Given the description of an element on the screen output the (x, y) to click on. 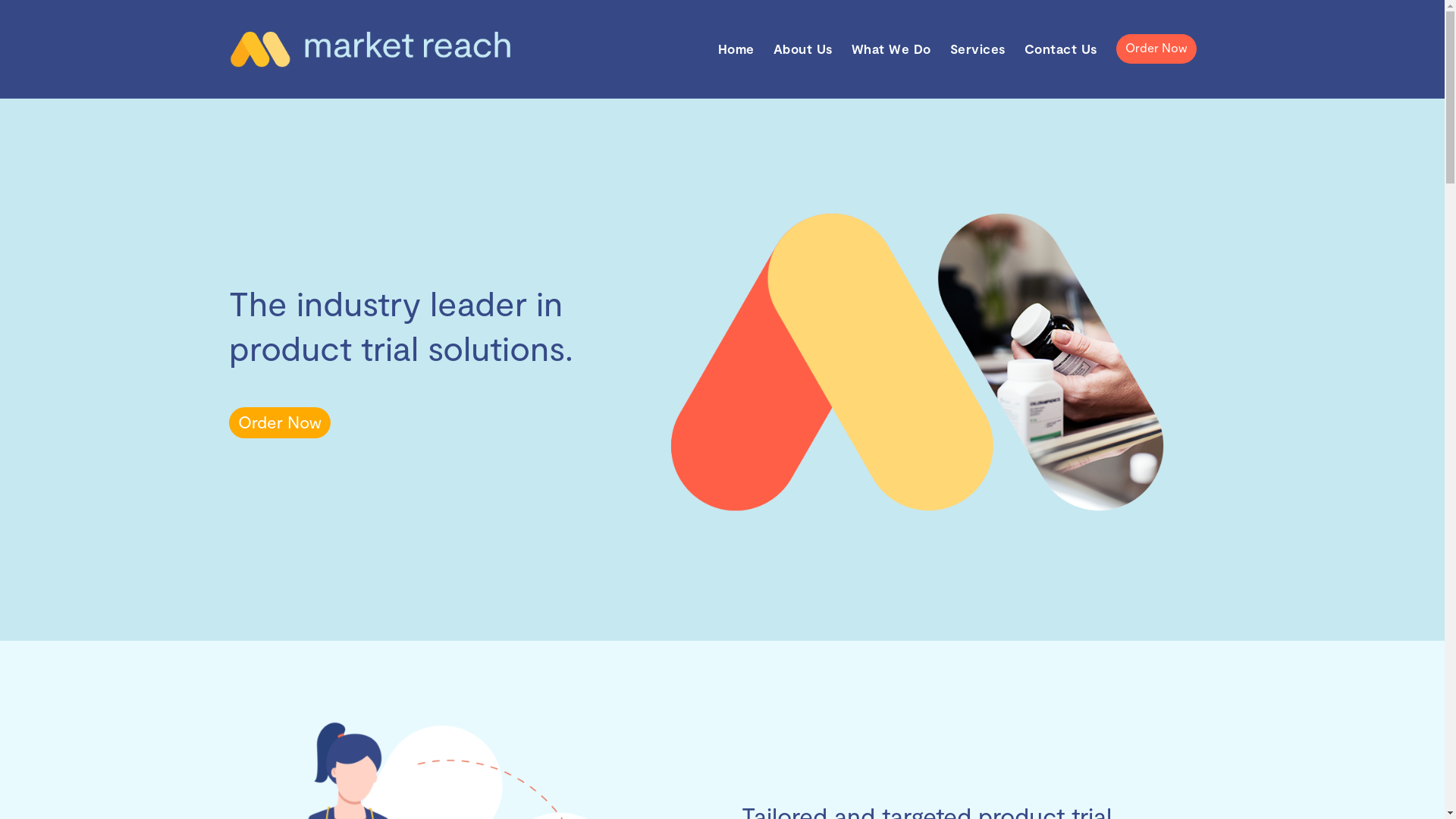
Services Element type: text (976, 48)
What We Do Element type: text (890, 48)
Contact Us Element type: text (1059, 48)
Home Element type: text (735, 48)
About Us Element type: text (802, 48)
Order Now Element type: text (1156, 48)
MR-Home-Graphic Element type: hover (917, 361)
Order Now Element type: text (279, 422)
